Given the description of an element on the screen output the (x, y) to click on. 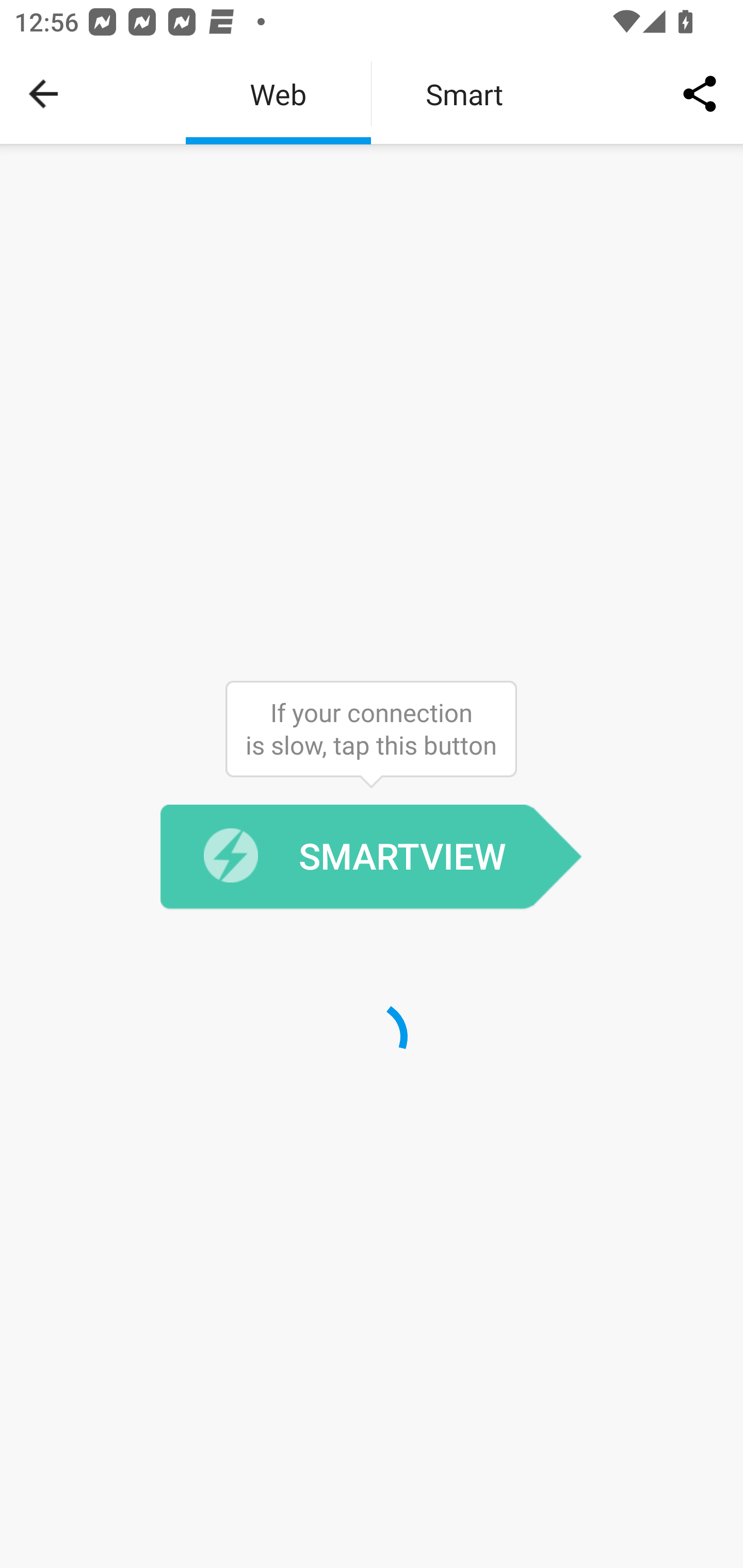
Web (277, 93)
Smart (464, 93)
SMARTVIEW (370, 857)
